Given the description of an element on the screen output the (x, y) to click on. 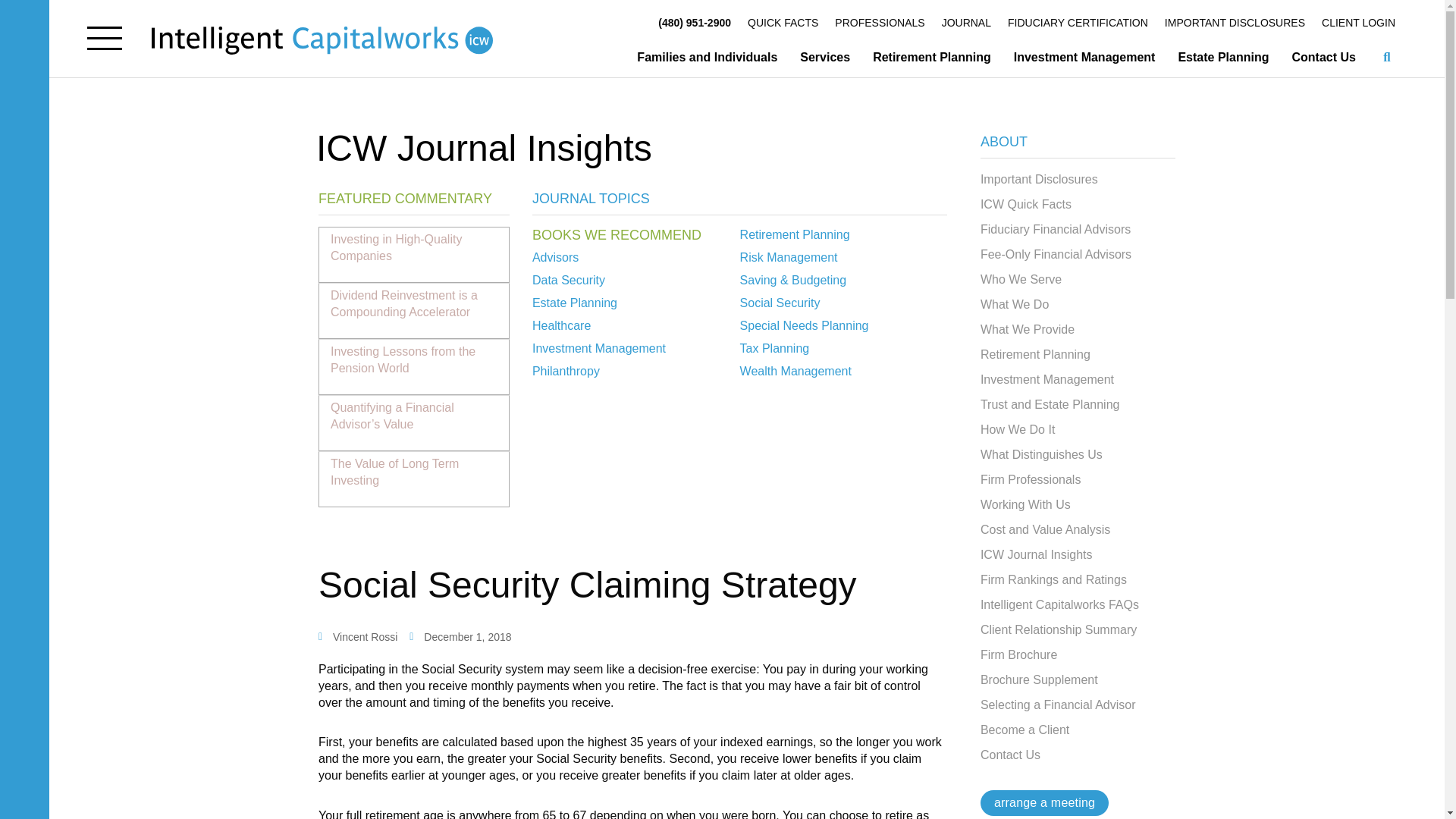
FIDUCIARY CERTIFICATION (1077, 22)
Wealth Management Scottsdale (825, 57)
Retirement Planning Scottsdale (932, 57)
Investment Management Scottsdale (1085, 57)
IMPORTANT DISCLOSURES (1234, 22)
JOURNAL (966, 22)
Financial Advisors Scottsdale (707, 57)
PROFESSIONALS (879, 22)
QUICK FACTS (783, 22)
Estate Planning Scottsdale (1222, 57)
